Given the description of an element on the screen output the (x, y) to click on. 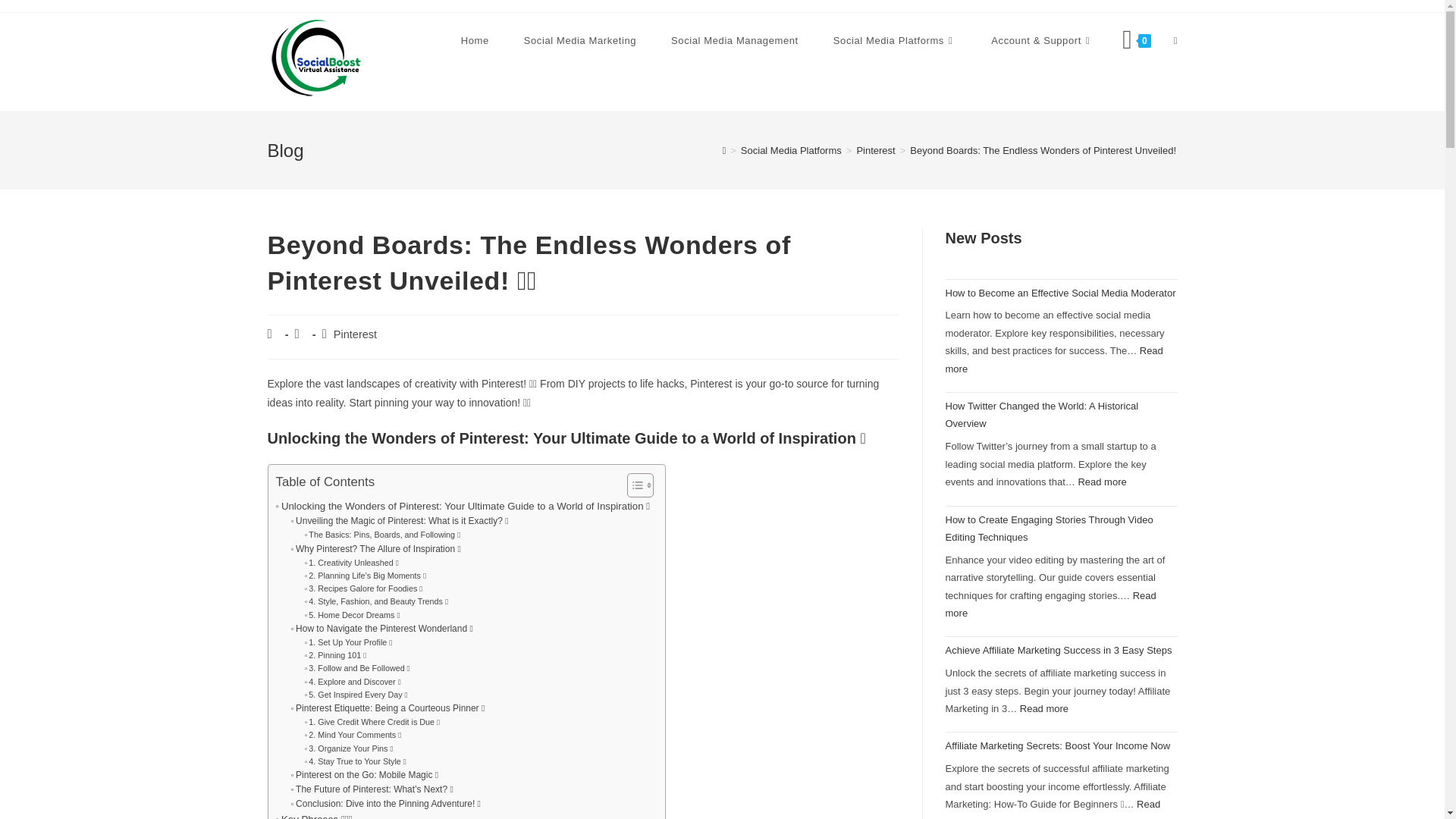
Social Media Marketing (579, 40)
Social Media Platforms (894, 40)
Home (475, 40)
0 (1135, 40)
Social Media Management (734, 40)
